Given the description of an element on the screen output the (x, y) to click on. 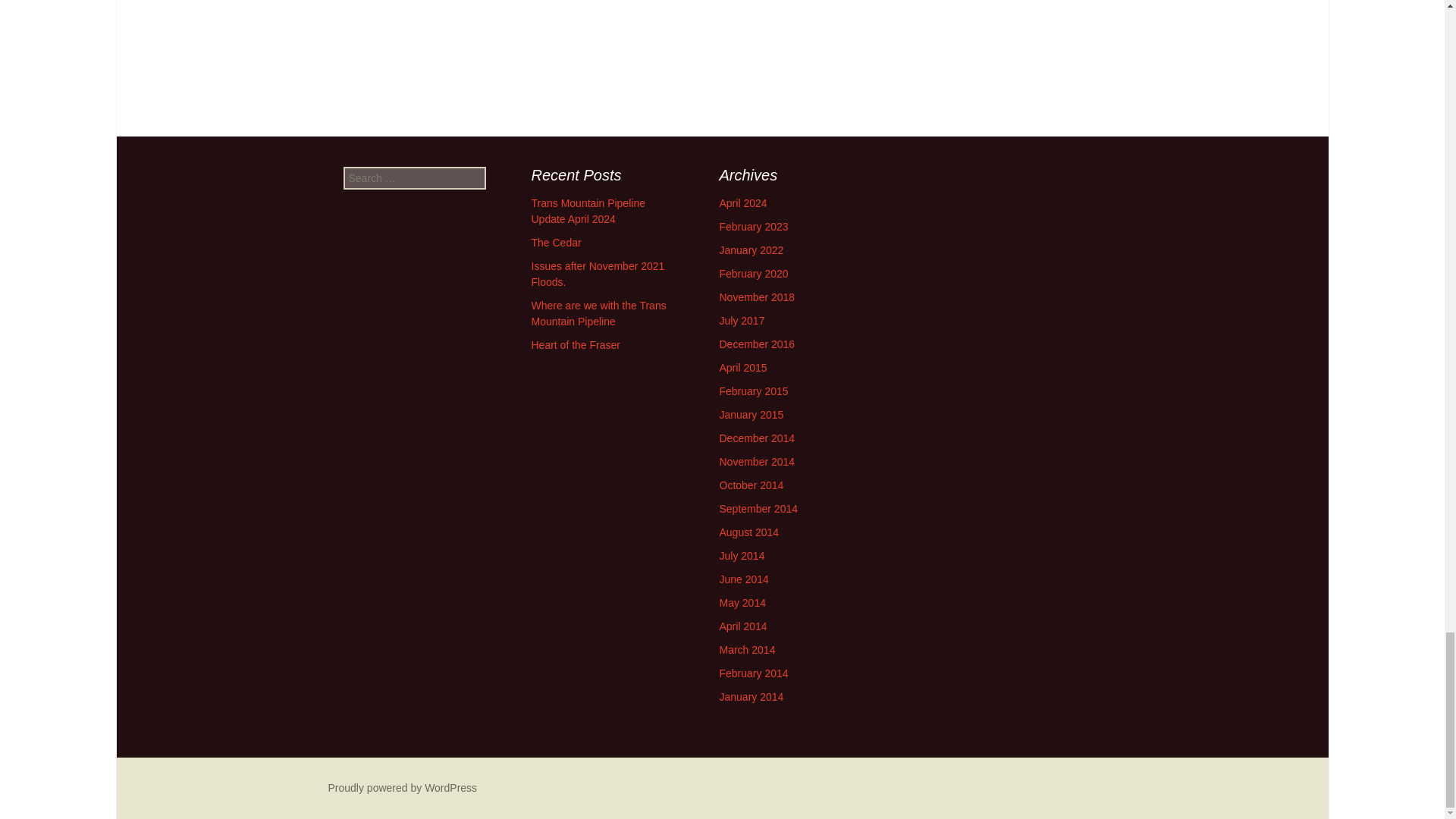
Trans Mountain Pipeline Update April 2024 (588, 211)
